Given the description of an element on the screen output the (x, y) to click on. 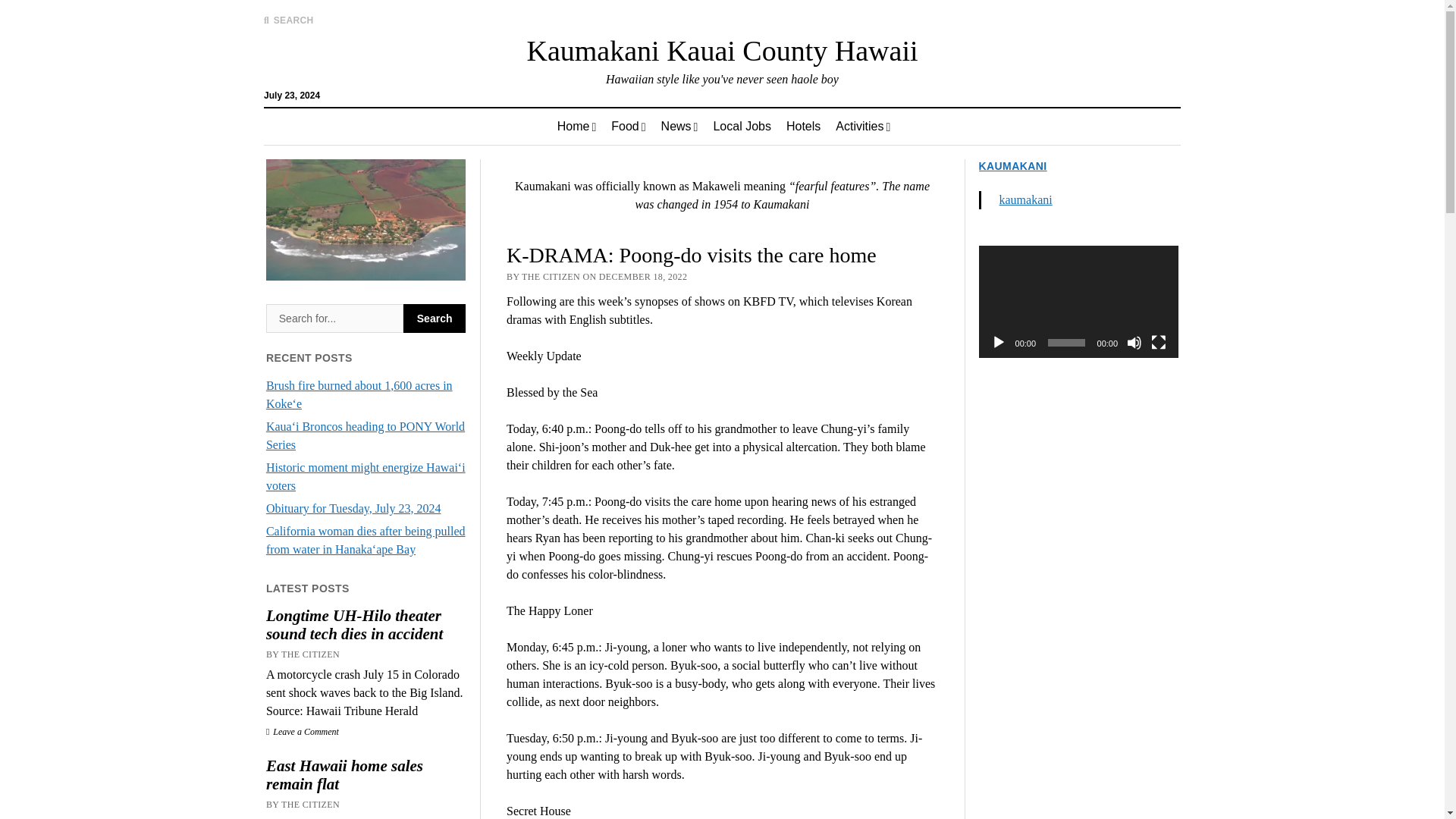
Activities (863, 126)
News (679, 126)
Local Jobs (741, 126)
Search (334, 317)
Search (945, 129)
Search (434, 317)
SEARCH (288, 20)
Search (434, 317)
Kaumakani Kauai County Hawaii (721, 50)
Home (576, 126)
Hotels (803, 126)
Food (627, 126)
Search (434, 317)
